Given the description of an element on the screen output the (x, y) to click on. 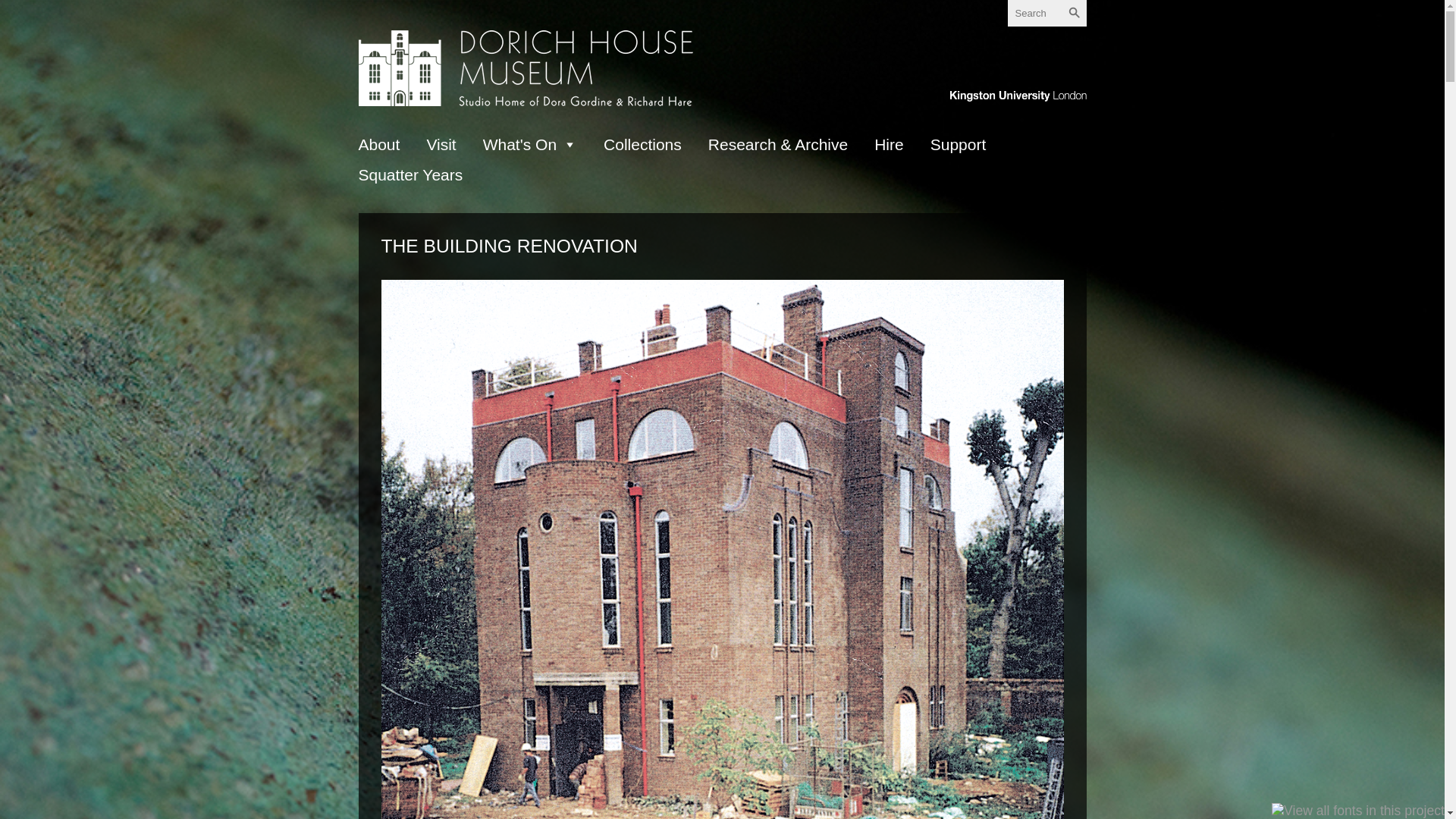
Collections (642, 144)
Search (1072, 13)
Support (958, 144)
Search (1072, 13)
Hire (889, 144)
Visit (440, 144)
What's On (529, 144)
About (378, 144)
Squatter Years (410, 174)
